Given the description of an element on the screen output the (x, y) to click on. 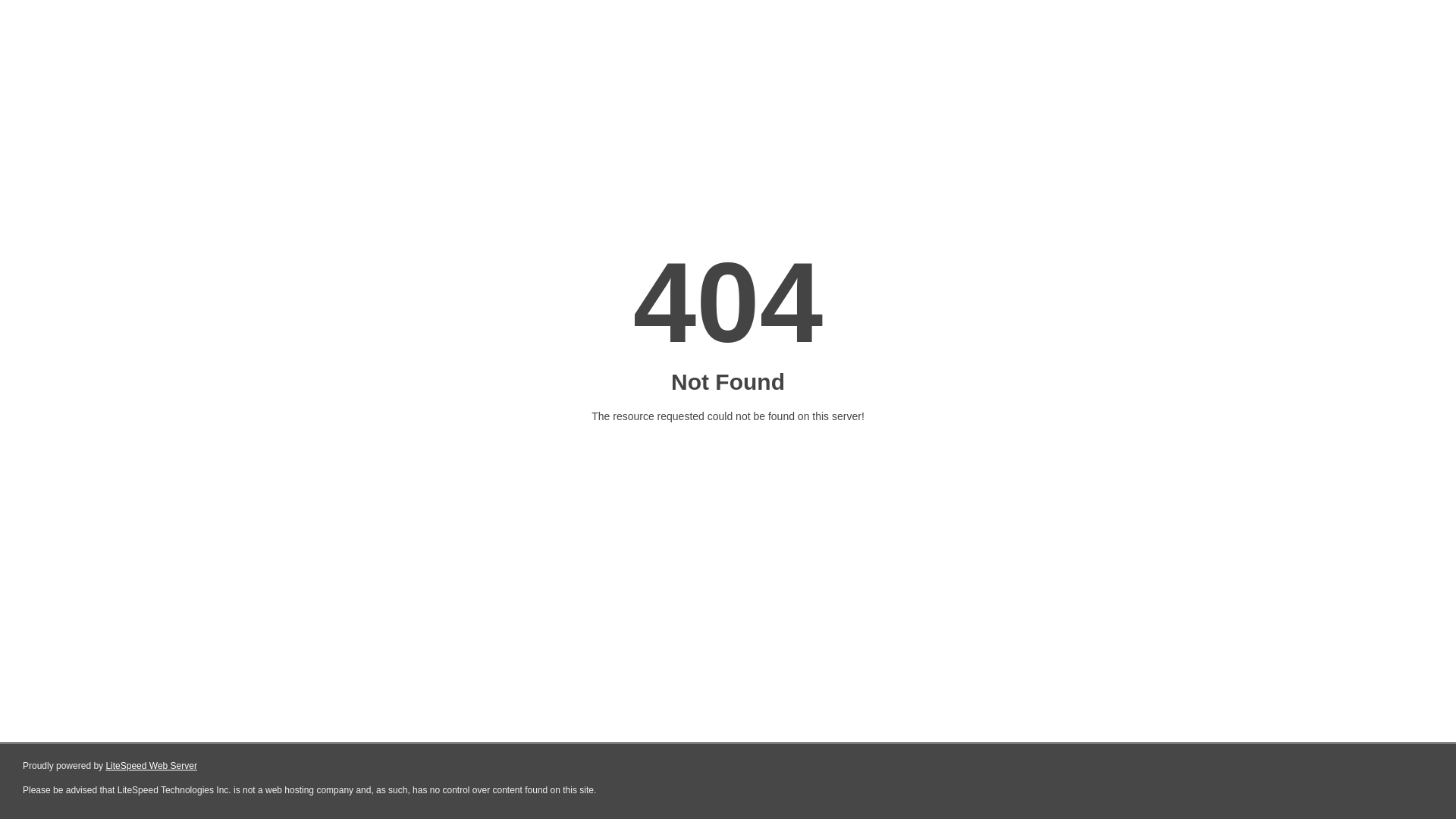
LiteSpeed Web Server Element type: text (151, 765)
